Given the description of an element on the screen output the (x, y) to click on. 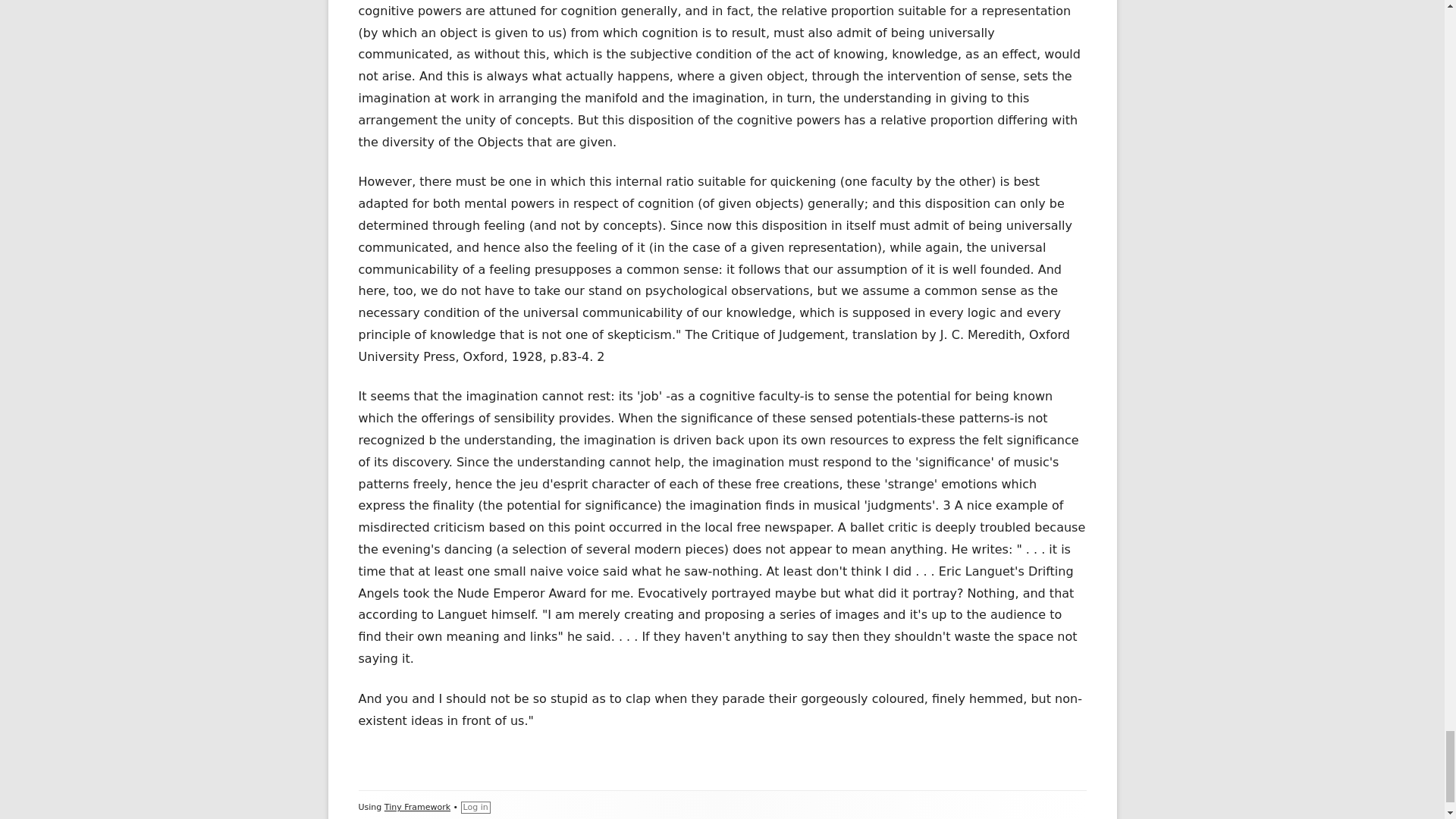
Log in (475, 807)
Tiny Framework (416, 807)
